Given the description of an element on the screen output the (x, y) to click on. 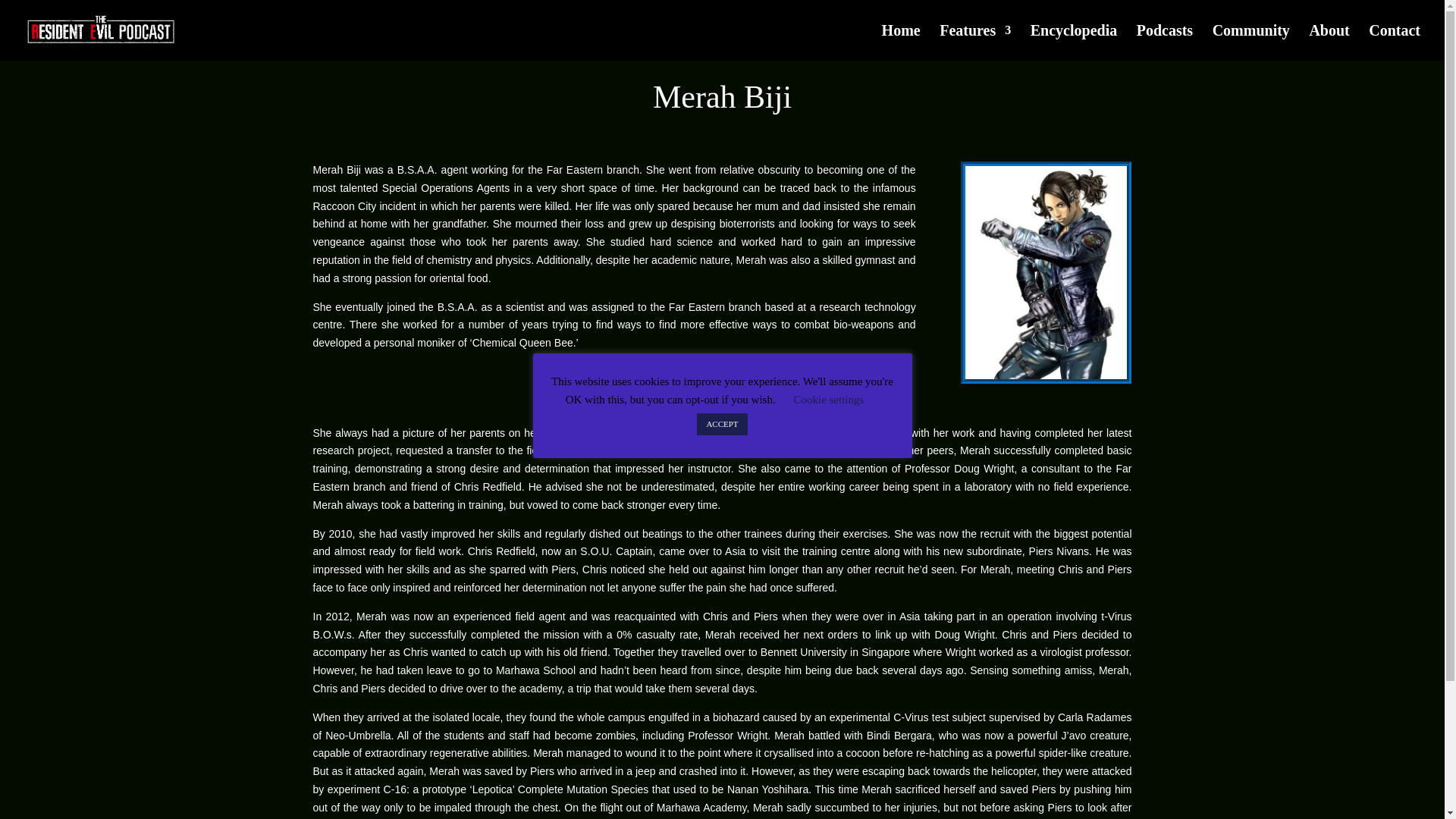
About (1328, 42)
Encyclopedia (1073, 42)
Community (1251, 42)
Features (974, 42)
Home (901, 42)
Contact (1394, 42)
Podcasts (1164, 42)
